Given the description of an element on the screen output the (x, y) to click on. 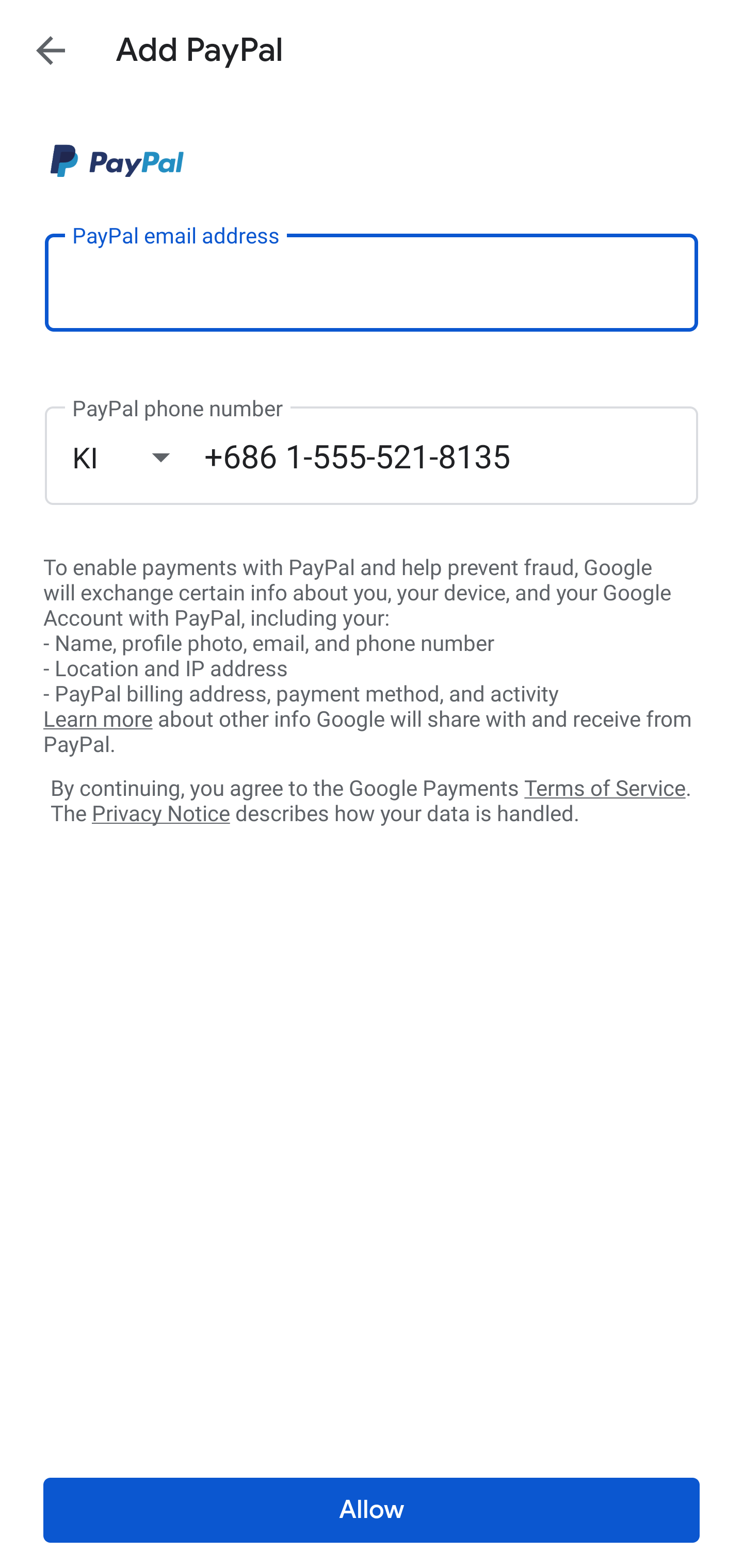
Navigate up (50, 50)
PayPal email address (371, 282)
KI (138, 456)
Learn more (97, 719)
Terms of Service (604, 787)
Privacy Notice (160, 814)
Allow (371, 1510)
